Given the description of an element on the screen output the (x, y) to click on. 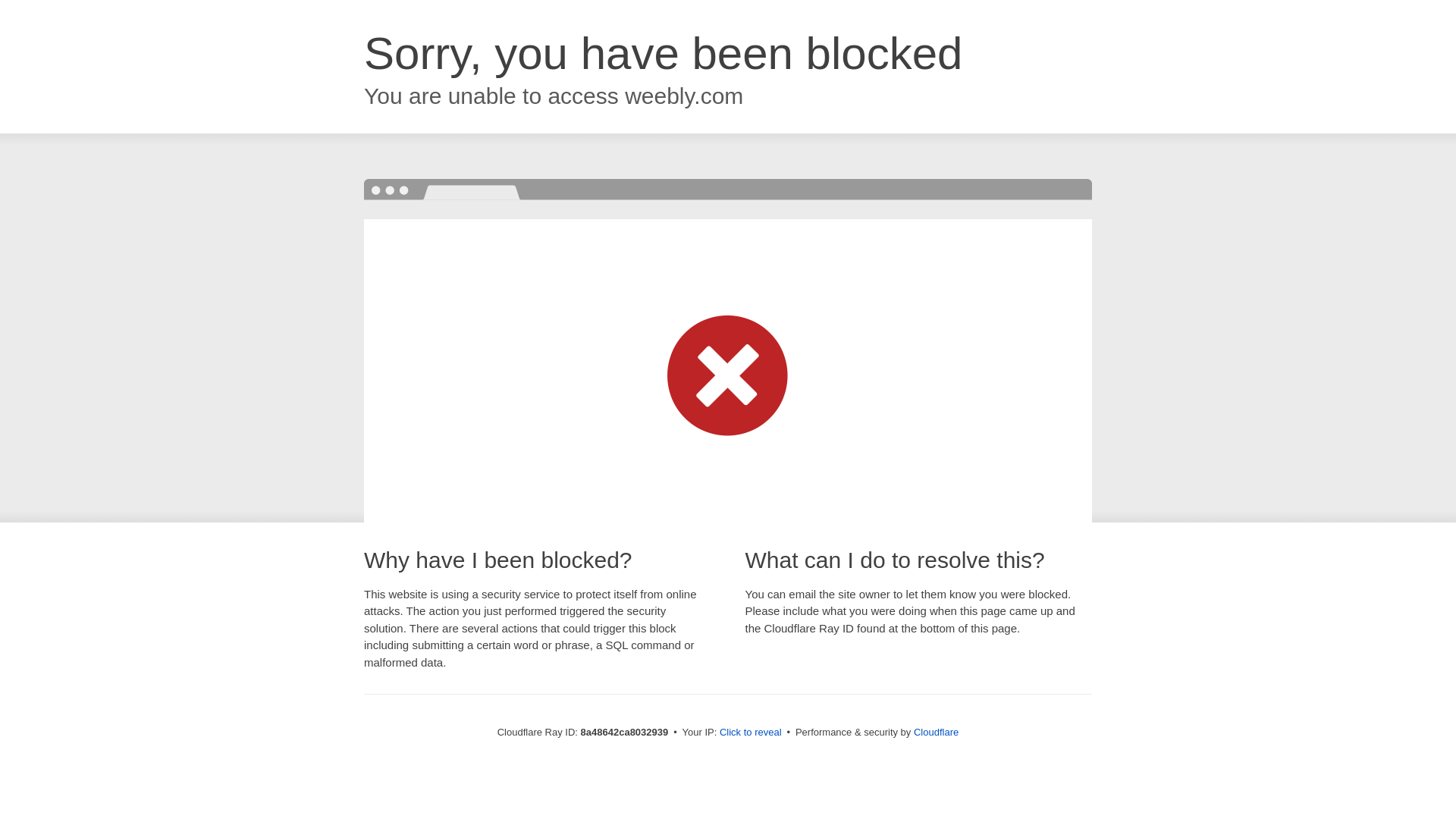
Cloudflare (936, 731)
Click to reveal (750, 732)
